Given the description of an element on the screen output the (x, y) to click on. 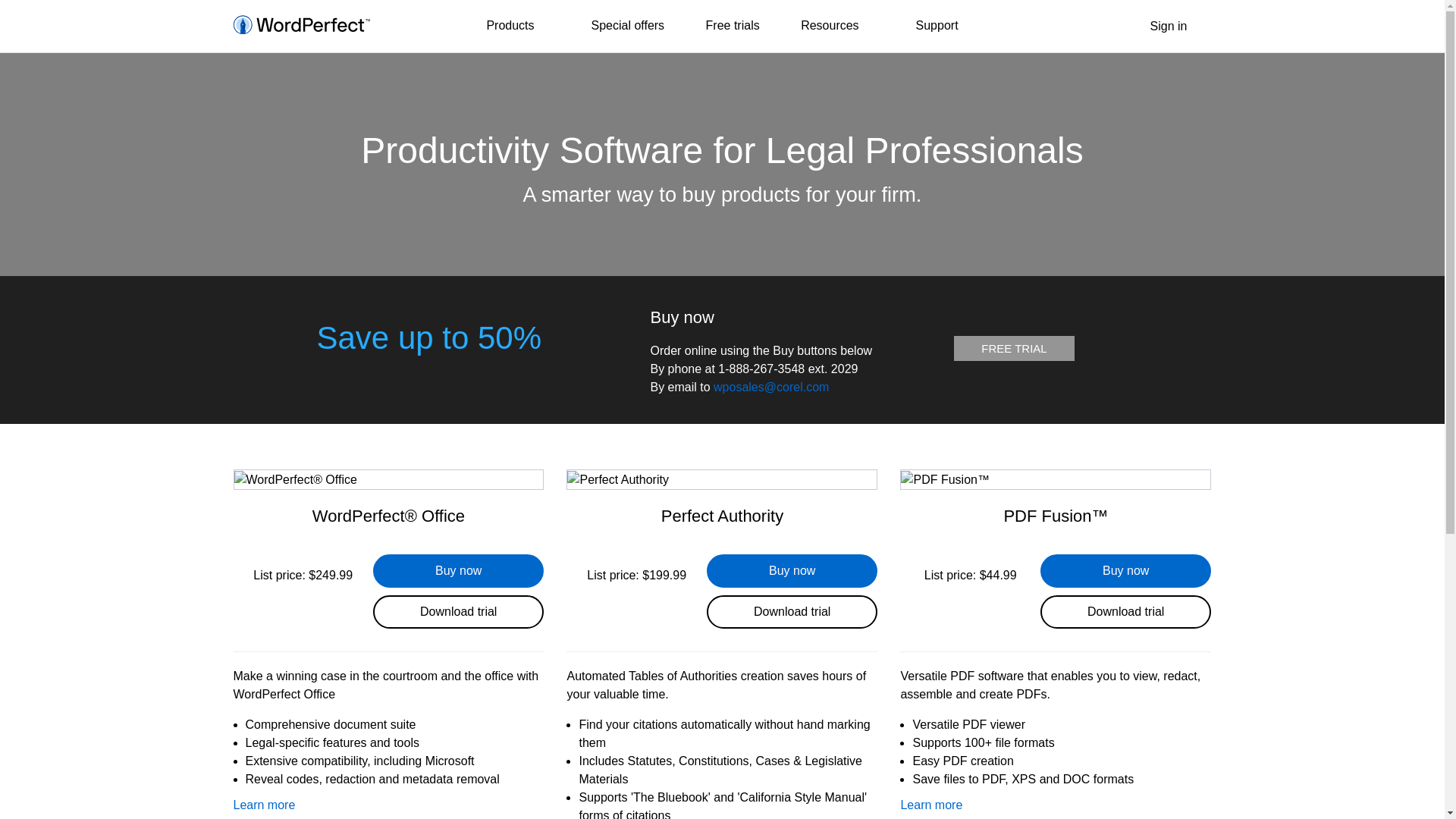
FREE TRIAL (1013, 348)
Resources (837, 27)
Support (936, 25)
Products (518, 27)
Special offers (627, 25)
WordPerfect (300, 25)
Sign in (1159, 25)
Free trials (732, 25)
